Given the description of an element on the screen output the (x, y) to click on. 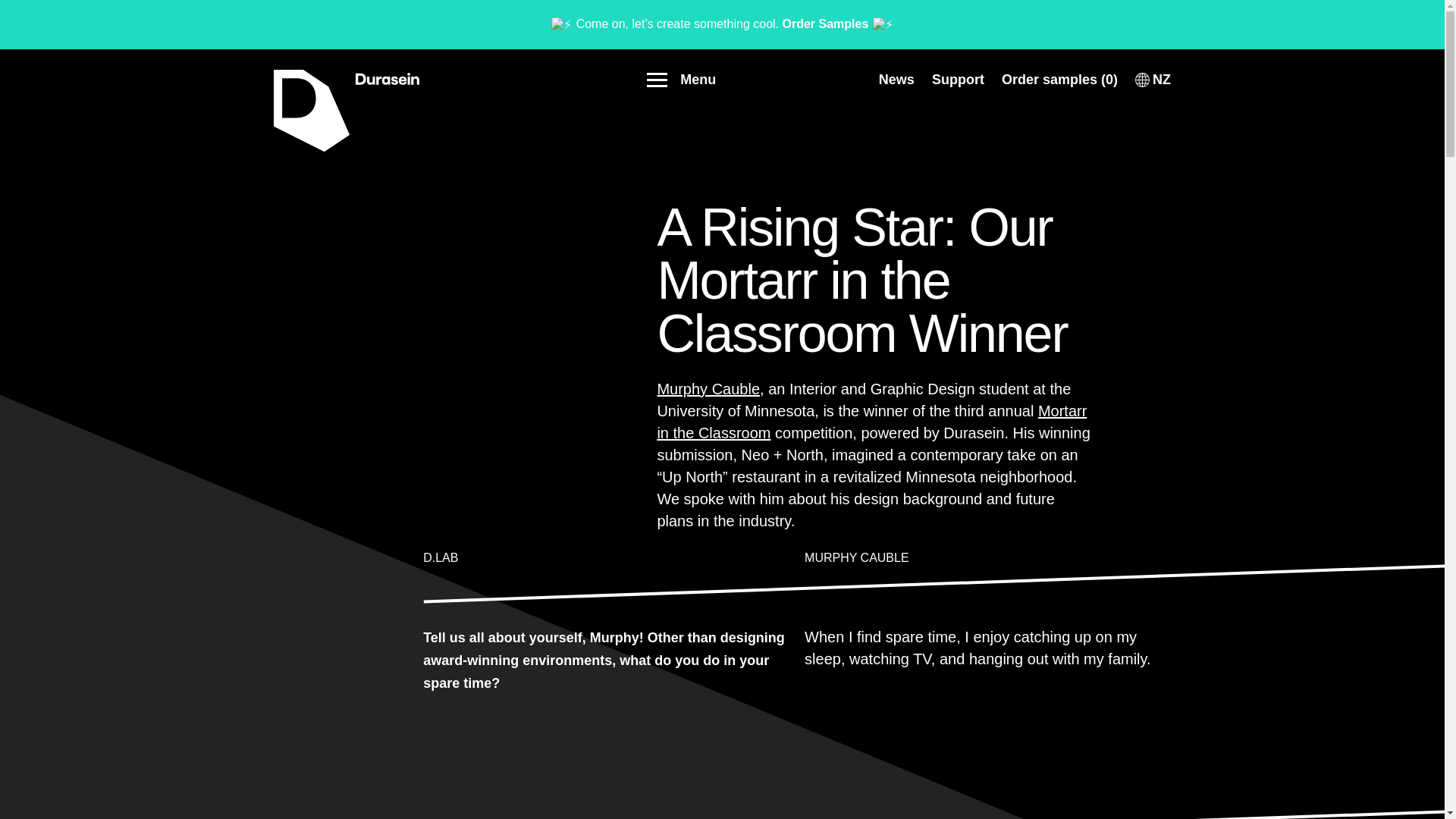
NZ (1142, 79)
Order Samples (826, 23)
News (896, 79)
Order samples 0 (1059, 79)
Support (957, 79)
